Given the description of an element on the screen output the (x, y) to click on. 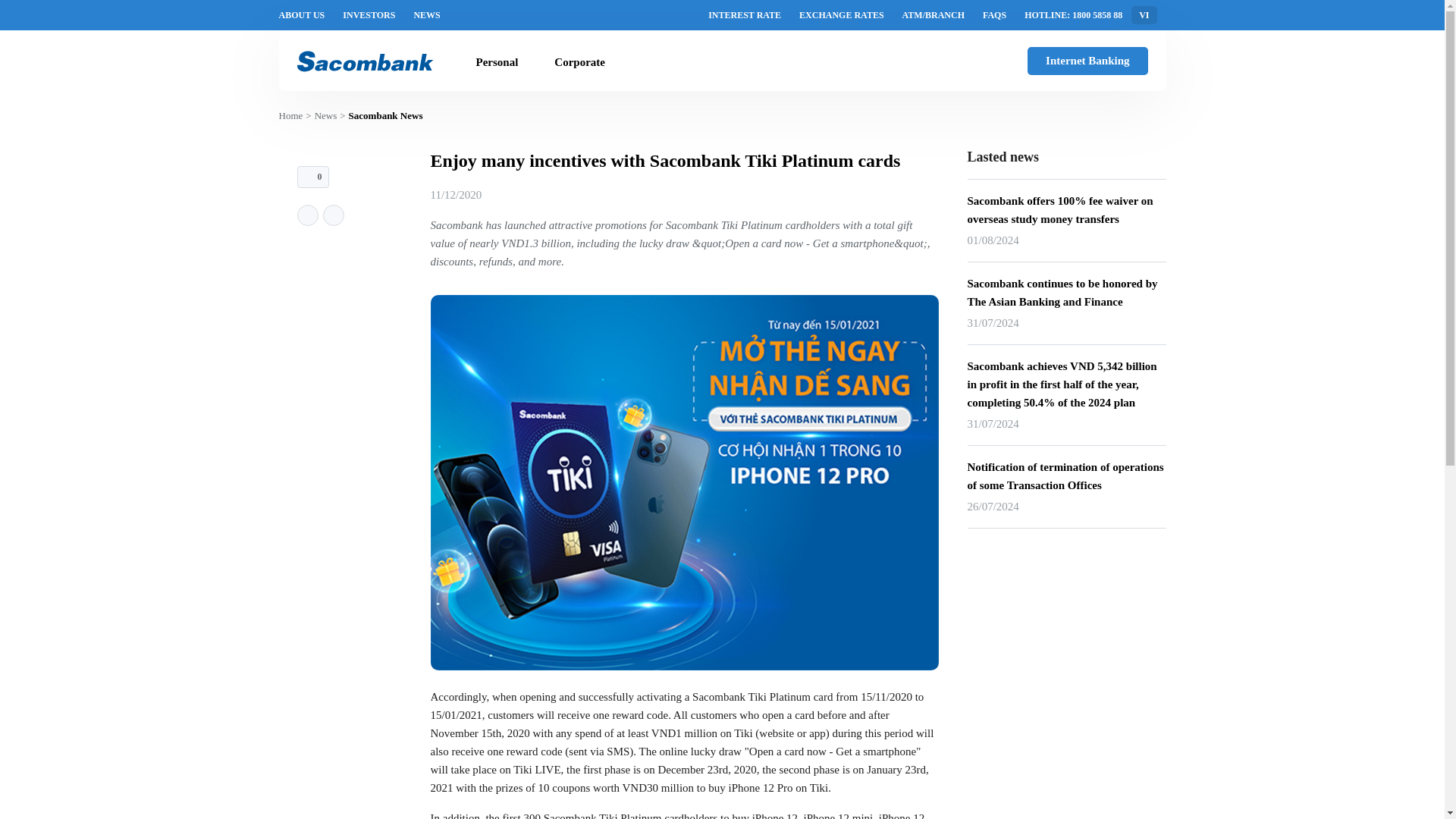
Internet Banking (1087, 60)
HOTLINE: 1800 5858 88 (1073, 15)
FAQS (994, 15)
ABOUT US (301, 15)
INVESTORS (368, 15)
EXCHANGE RATES (841, 15)
Corporate (579, 61)
Personal (497, 61)
NEWS (426, 15)
INTEREST RATE (743, 15)
